Given the description of an element on the screen output the (x, y) to click on. 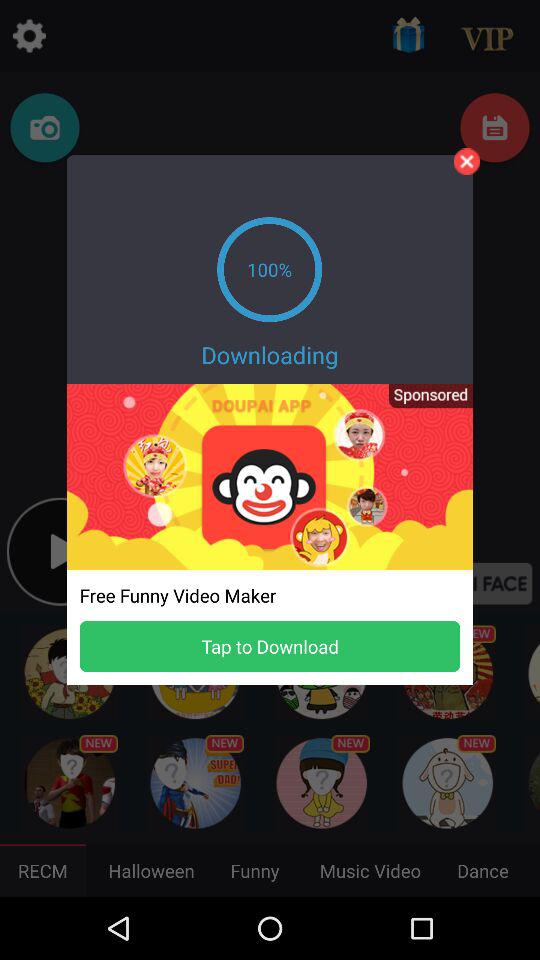
press icon at the top right corner (466, 161)
